Given the description of an element on the screen output the (x, y) to click on. 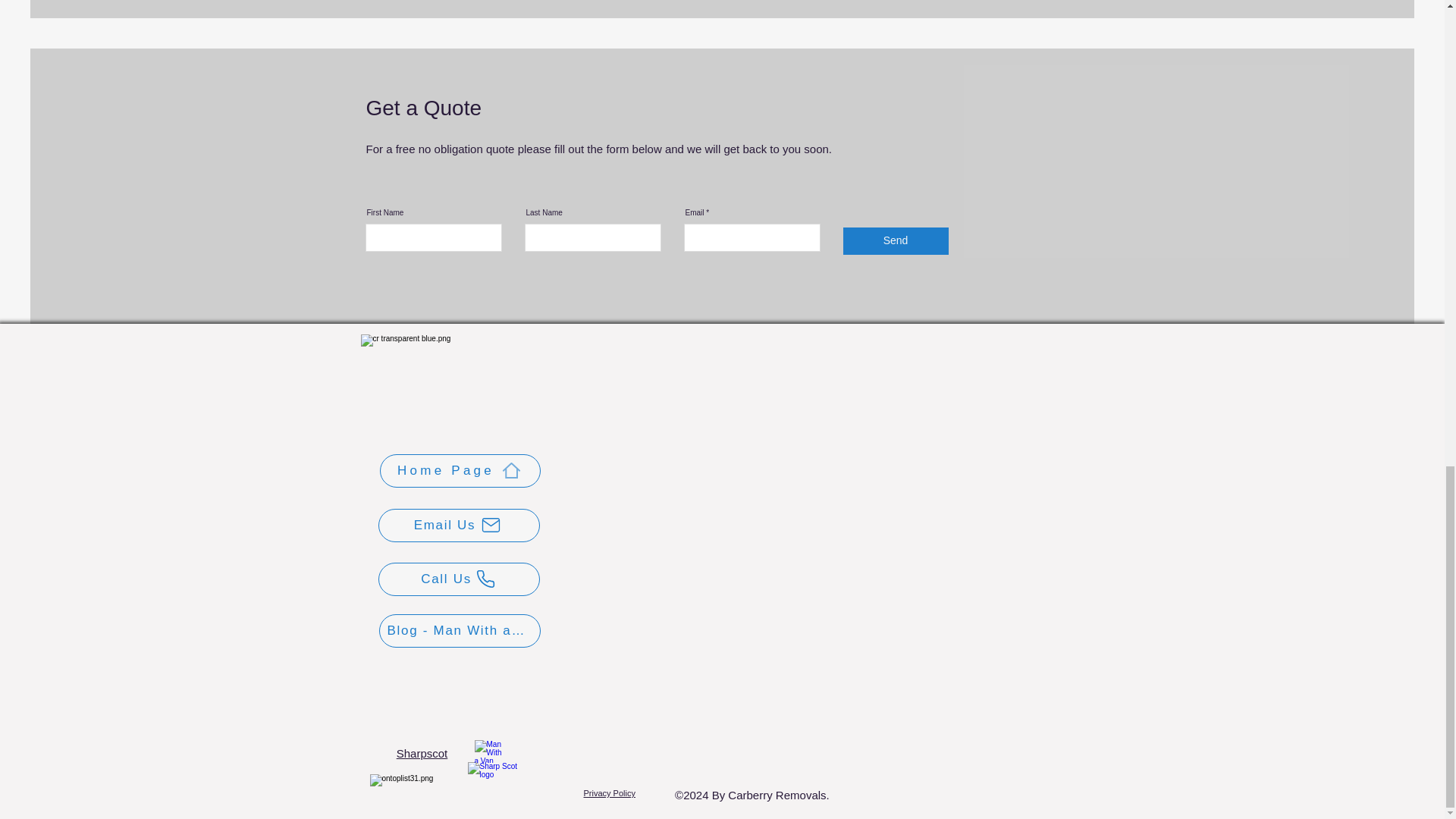
Home Page (459, 470)
Email Us (457, 525)
Blog - Man With a Van Glasgow (459, 630)
Call Us (457, 579)
nextdoor-logo-png-png-high-resolution-do (488, 751)
Send (896, 240)
Sharpscot (422, 753)
Privacy Policy (608, 792)
